Given the description of an element on the screen output the (x, y) to click on. 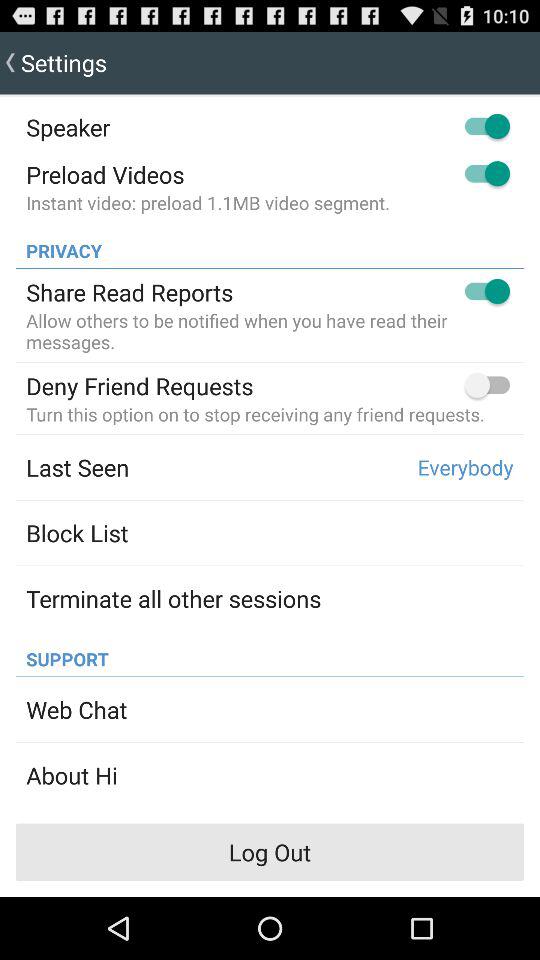
click icon above the instant video preload icon (105, 174)
